Given the description of an element on the screen output the (x, y) to click on. 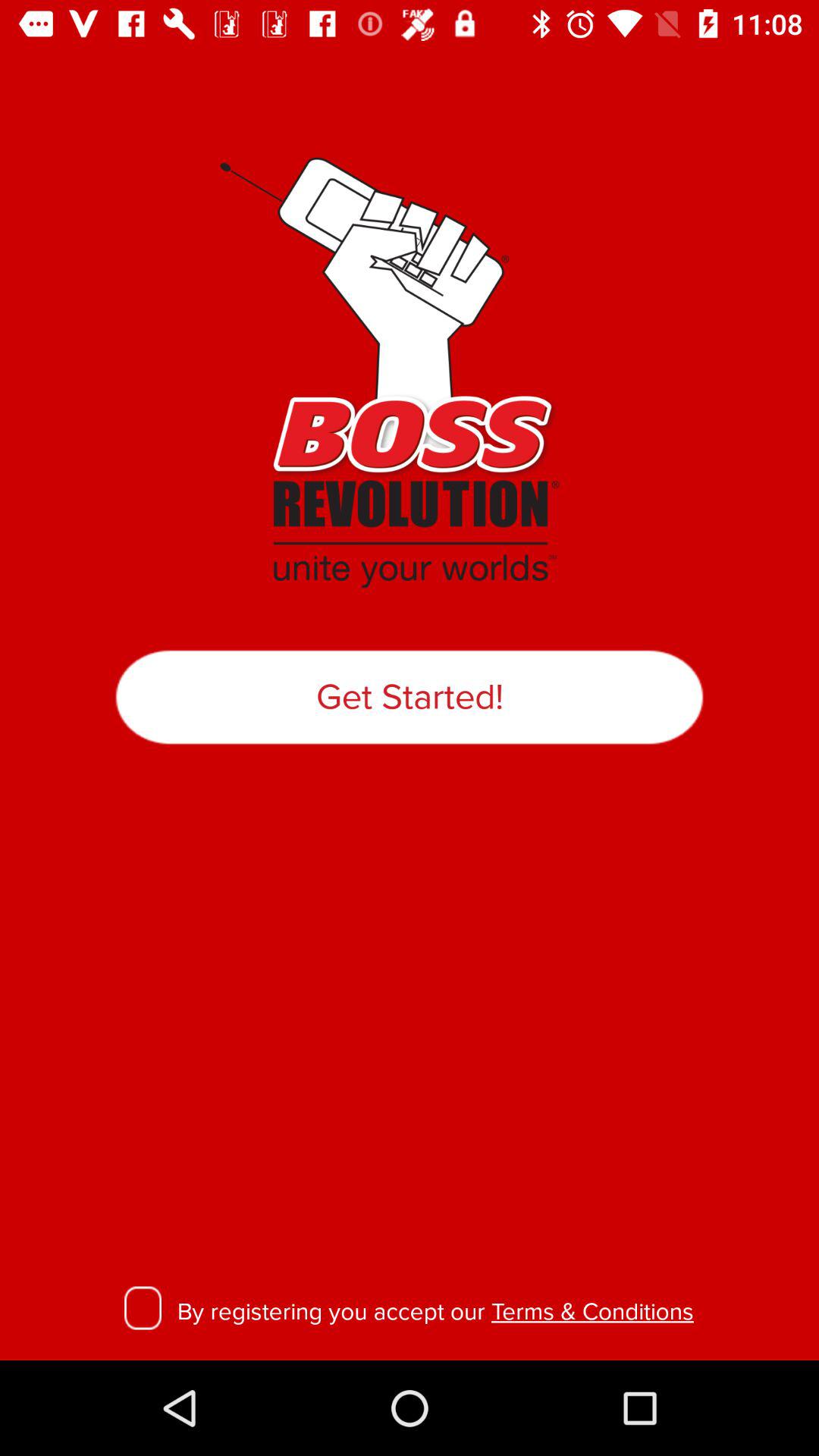
select item at the center (409, 697)
